Given the description of an element on the screen output the (x, y) to click on. 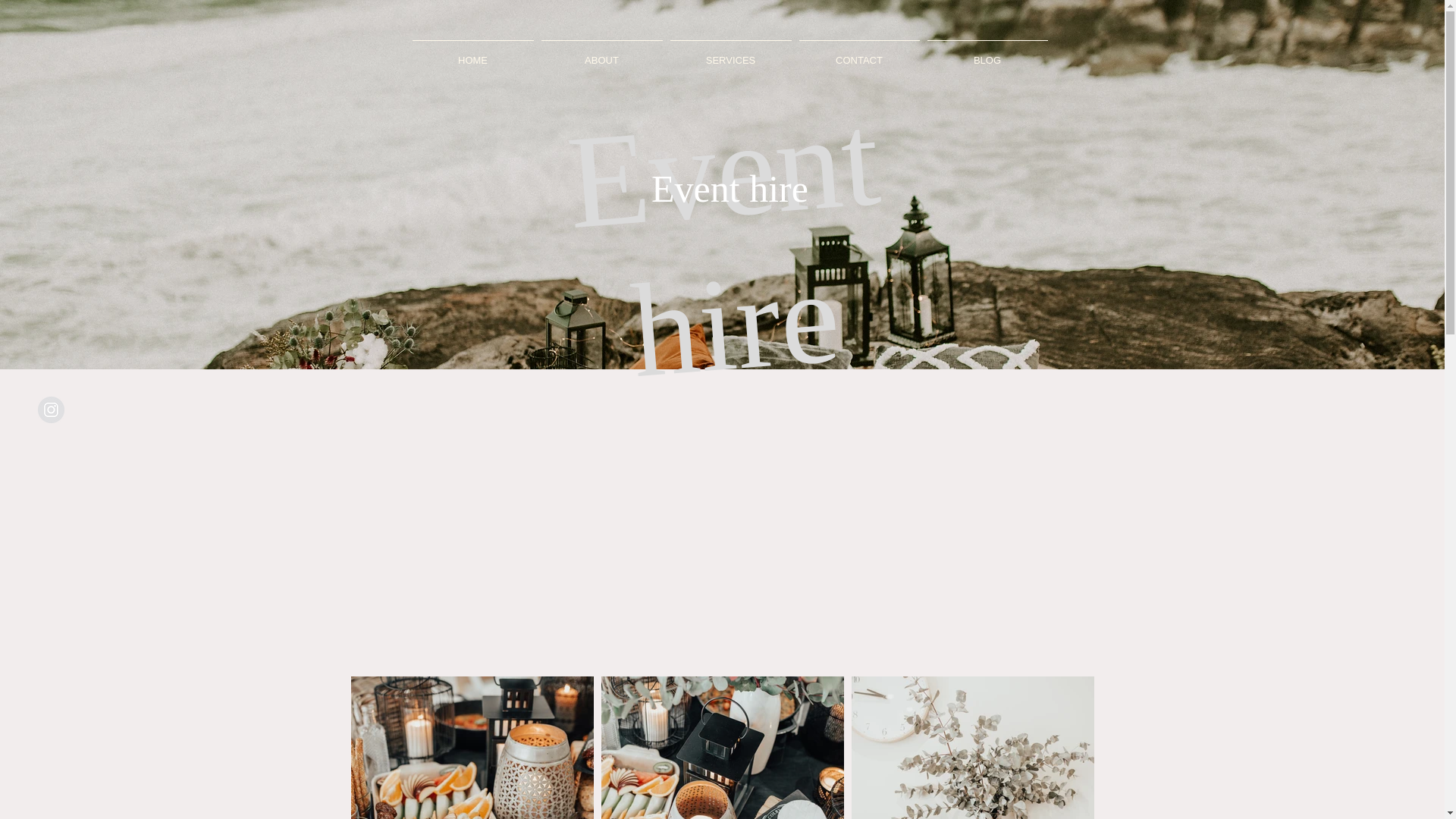
HOME (472, 53)
SERVICES (729, 53)
BLOG (987, 53)
CONTACT (858, 53)
ABOUT (601, 53)
